Given the description of an element on the screen output the (x, y) to click on. 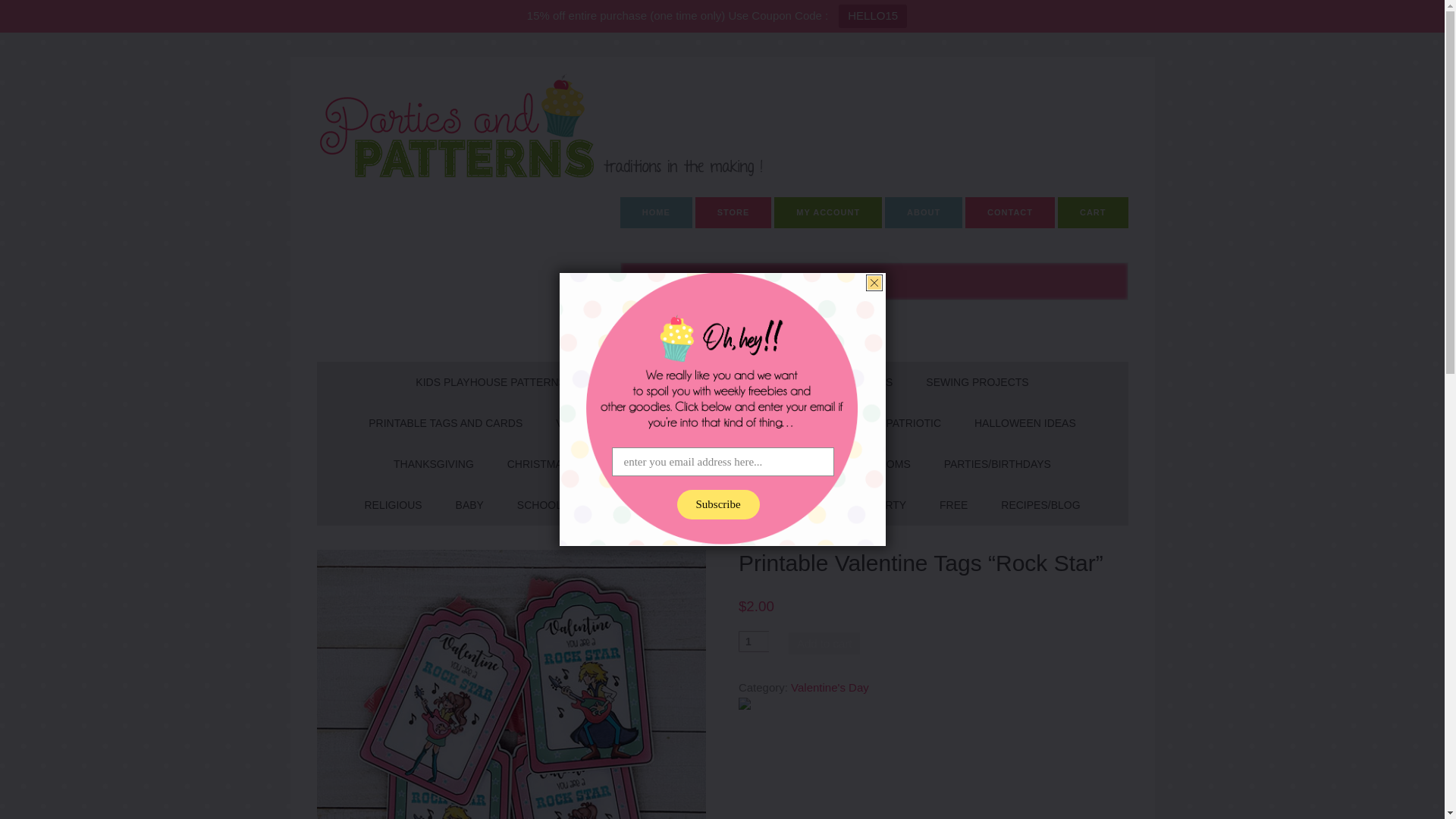
STORE (733, 212)
QUILTS (874, 381)
FAMILY PARTY (868, 504)
PRINTABLE TAGS AND CARDS (445, 422)
EASTER (830, 422)
Qty (753, 640)
ABOUT (923, 212)
MY ACCOUNT (828, 212)
FREE (953, 504)
HALLOWEEN IDEAS (1024, 422)
TREASURE HUNTS (773, 381)
FOR DADS (791, 463)
HOME (656, 212)
Printable Valentine Tags "Rock Star" (511, 684)
THANKSGIVING (433, 463)
